Given the description of an element on the screen output the (x, y) to click on. 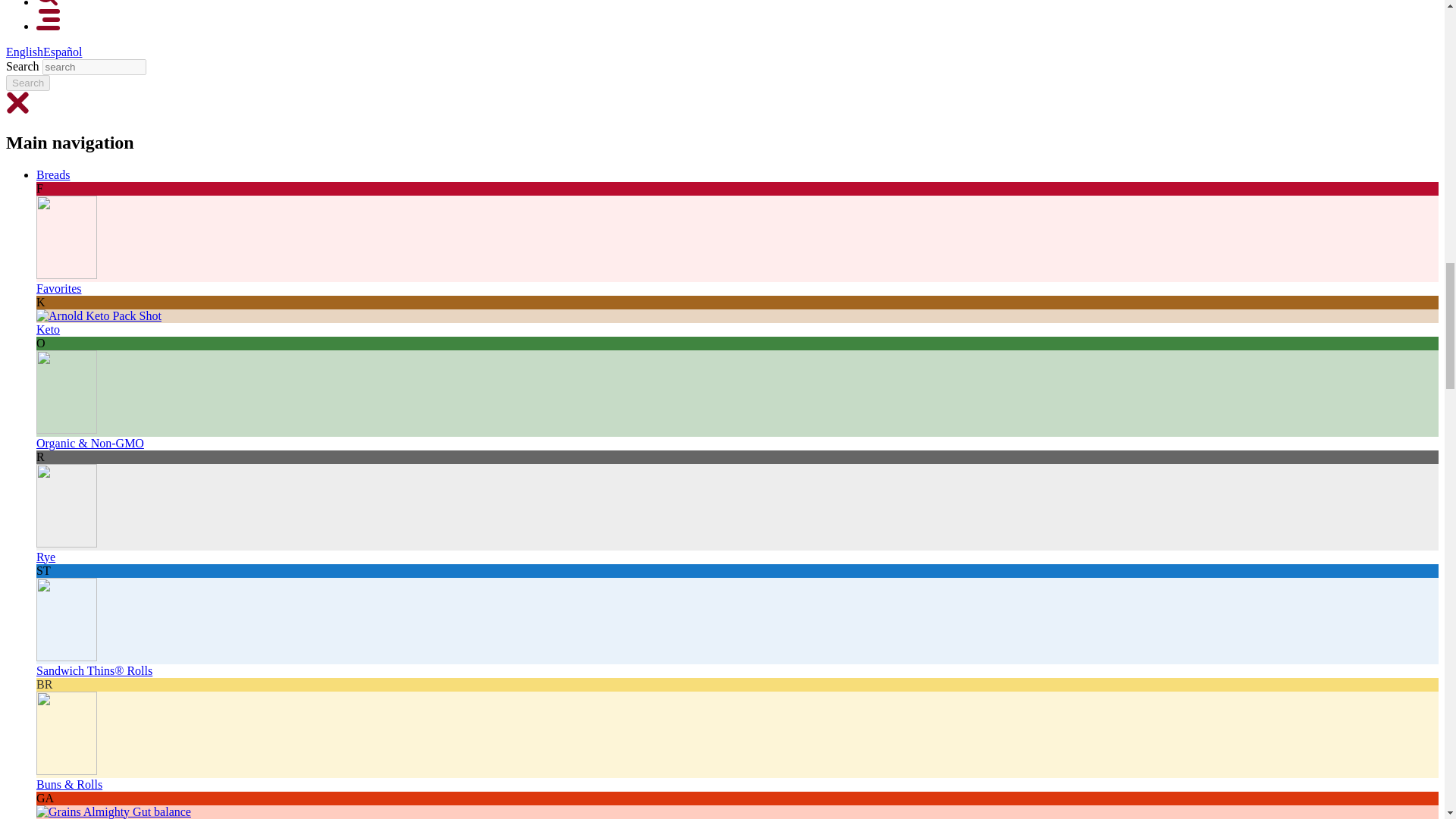
Search (27, 82)
